Given the description of an element on the screen output the (x, y) to click on. 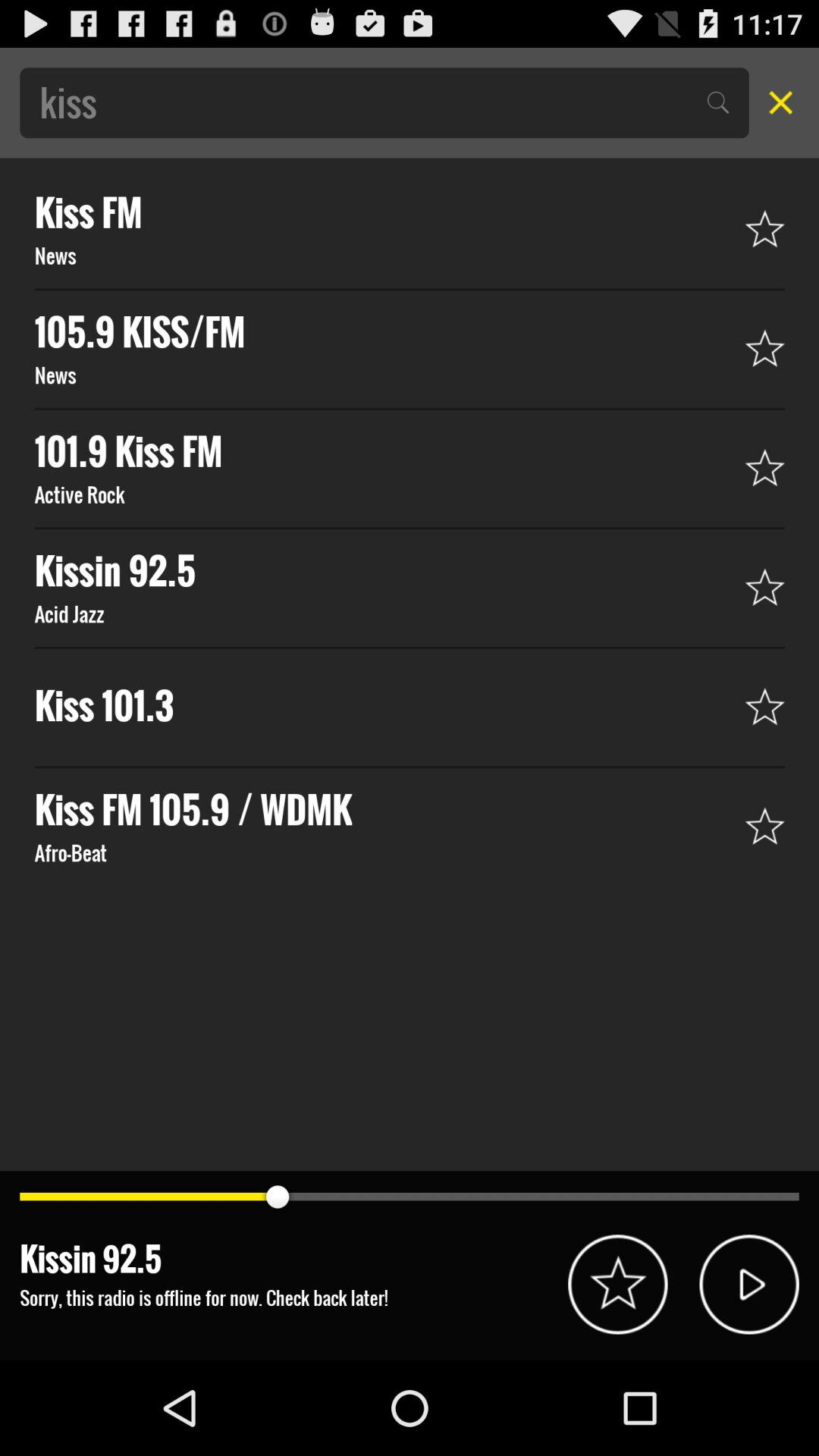
close (776, 102)
